Given the description of an element on the screen output the (x, y) to click on. 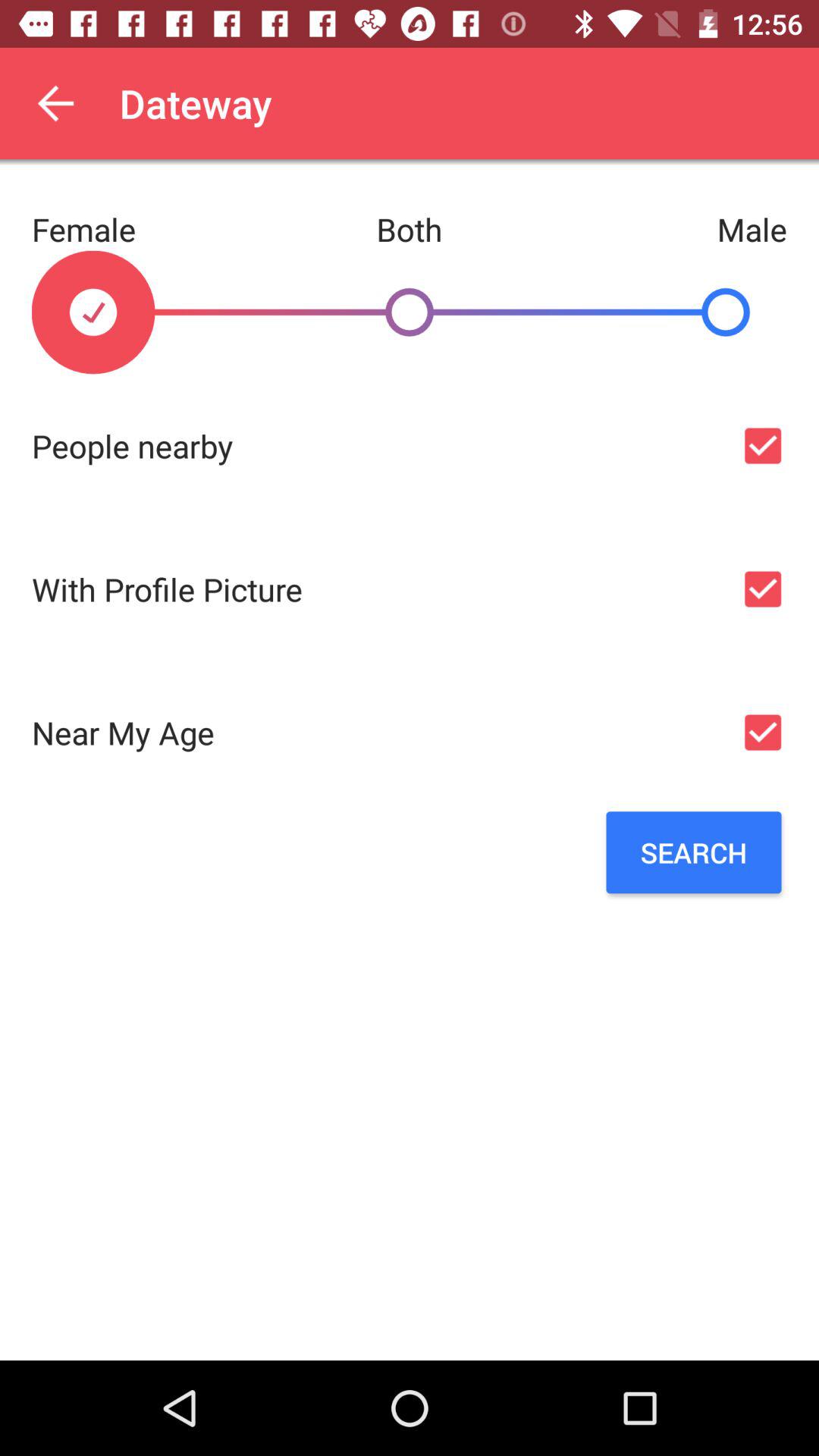
select/deselect near my age (762, 732)
